Given the description of an element on the screen output the (x, y) to click on. 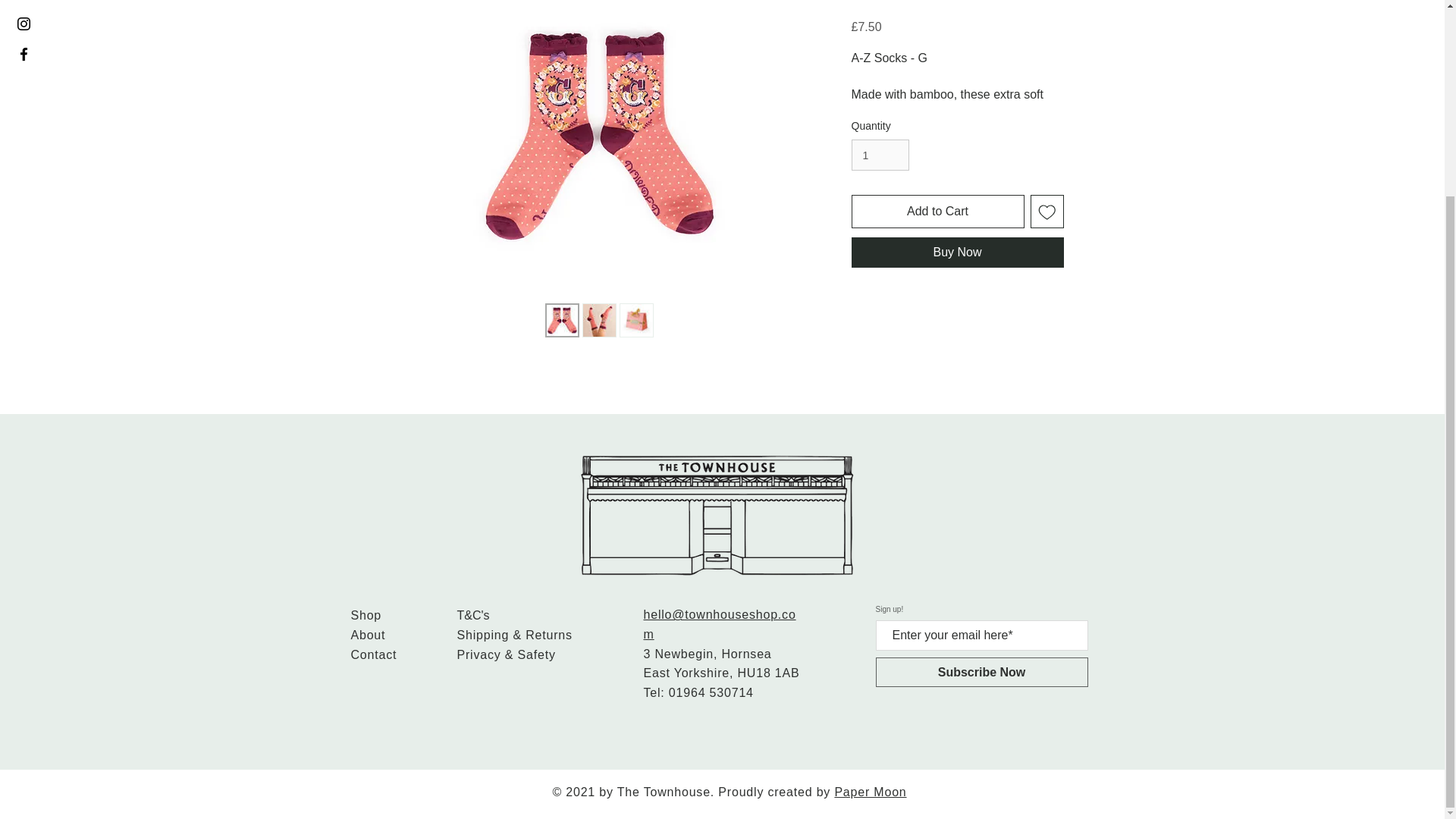
Shop (365, 615)
Contact (373, 654)
Subscribe Now (981, 672)
Buy Now (956, 252)
Add to Cart (936, 211)
Paper Moon (869, 791)
1 (879, 154)
About (367, 634)
